Given the description of an element on the screen output the (x, y) to click on. 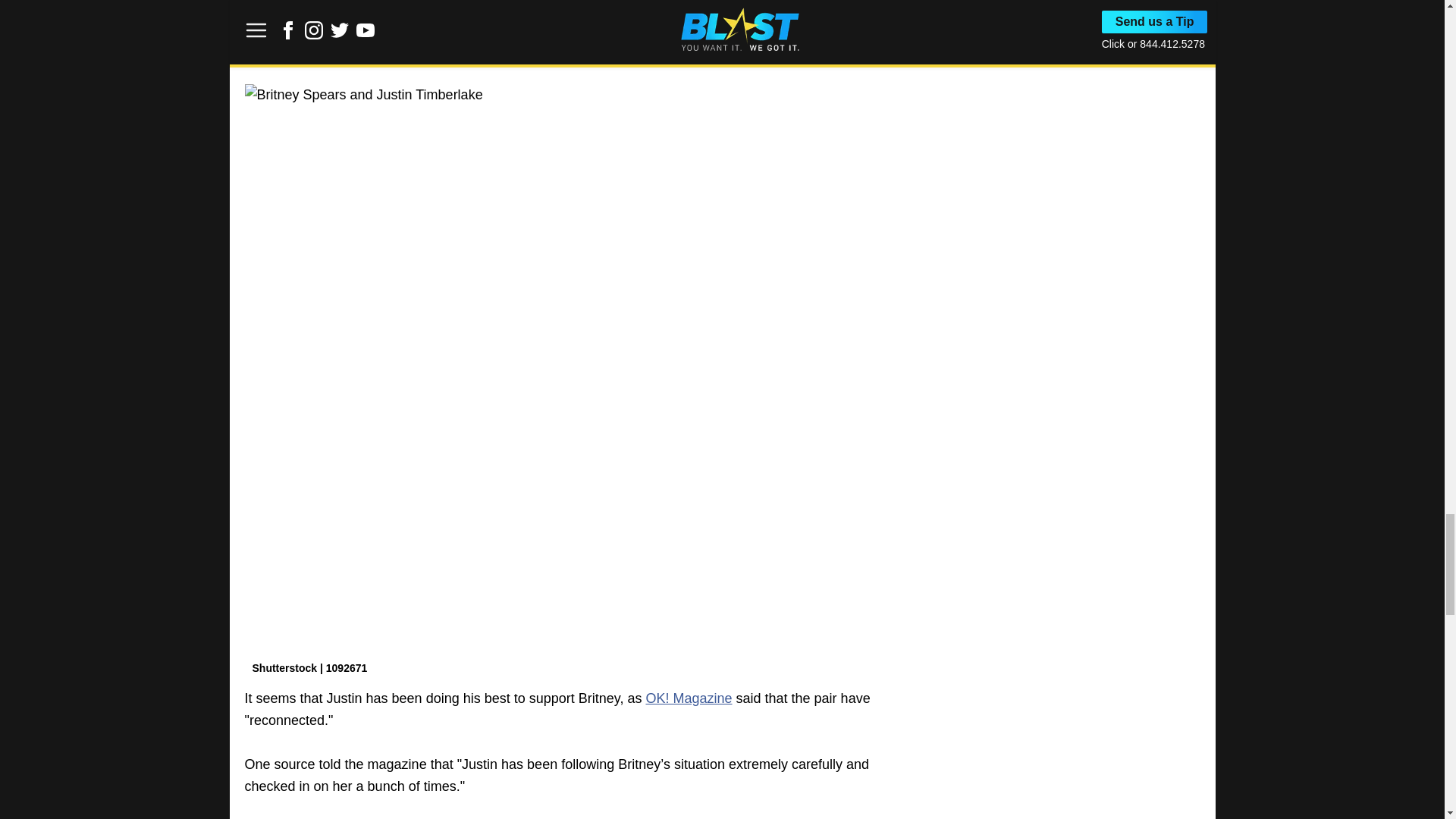
OK! Magazine (688, 698)
